Given the description of an element on the screen output the (x, y) to click on. 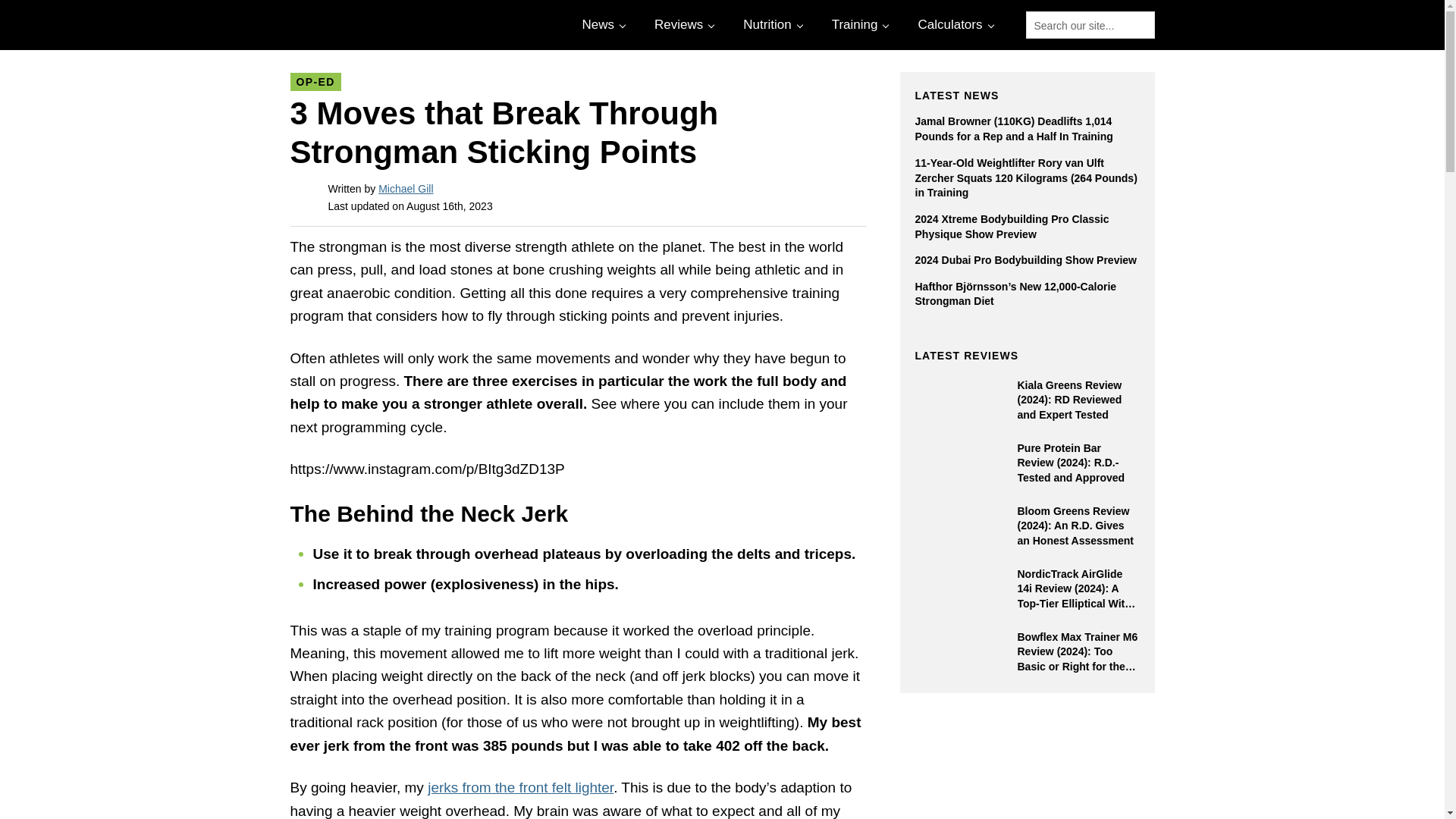
News (602, 24)
Reviews (682, 24)
